Given the description of an element on the screen output the (x, y) to click on. 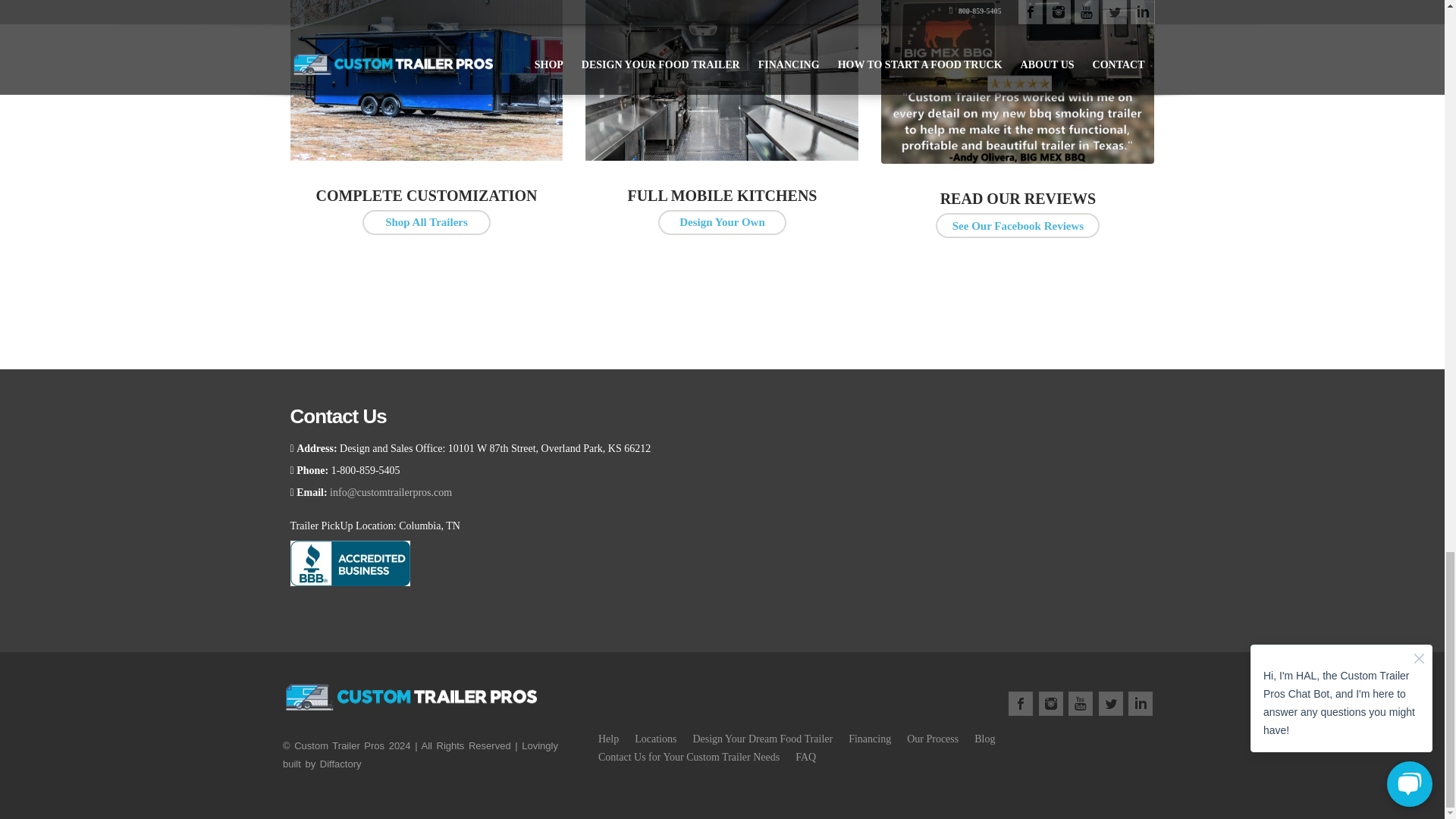
Big Mex BBQ Review 2 (1017, 81)
4 (425, 80)
Design Your Own (722, 222)
See Our Facebook Reviews (1017, 225)
Diffactory (340, 763)
View All Trailers (426, 222)
Receive A Detailed Quote (722, 222)
17 (722, 80)
Shop All Trailers (426, 222)
